Given the description of an element on the screen output the (x, y) to click on. 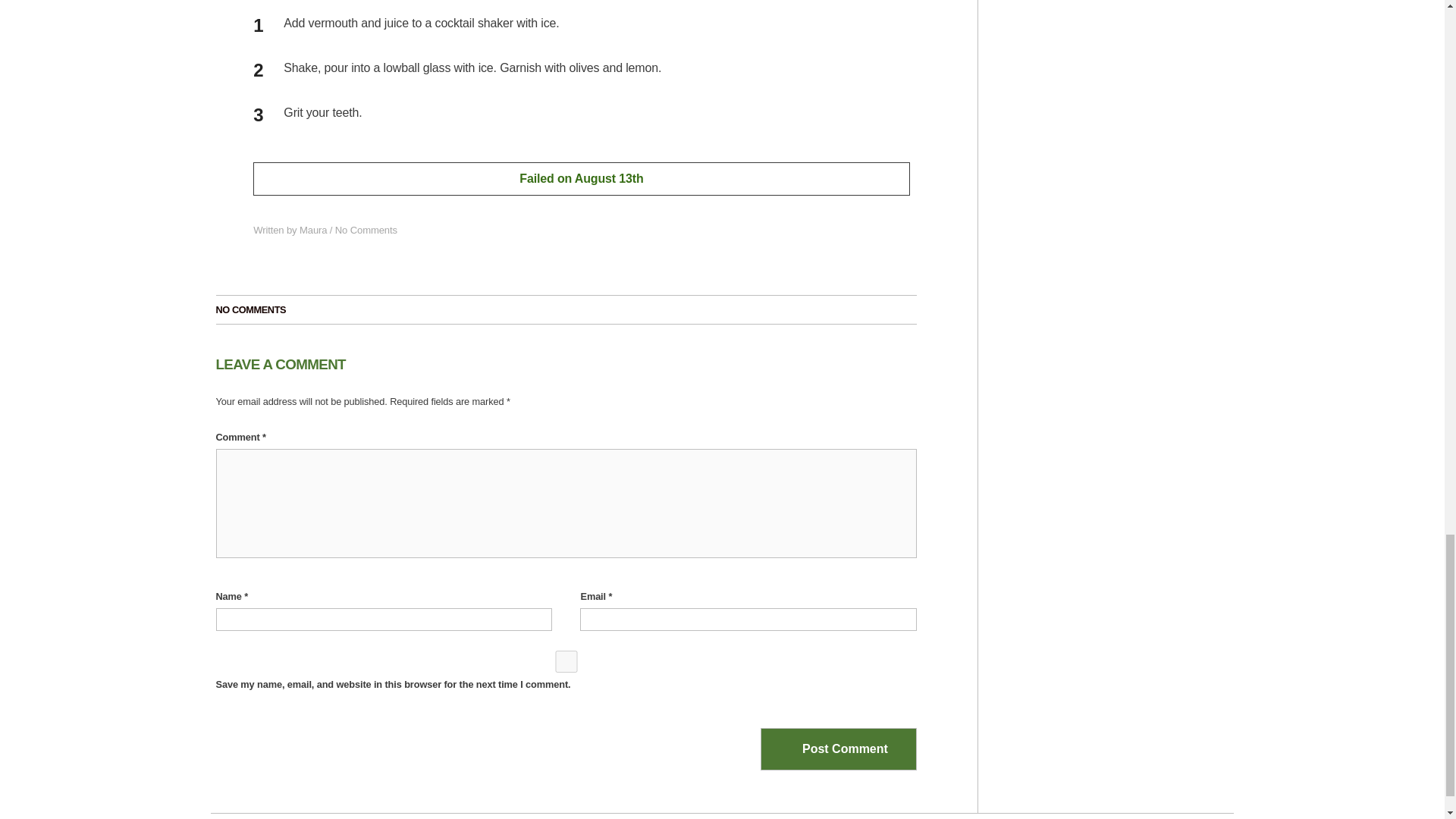
Post Comment (838, 749)
Print directions... (777, 4)
Print (777, 4)
No Comments (365, 229)
Post Comment (838, 749)
yes (566, 661)
